Given the description of an element on the screen output the (x, y) to click on. 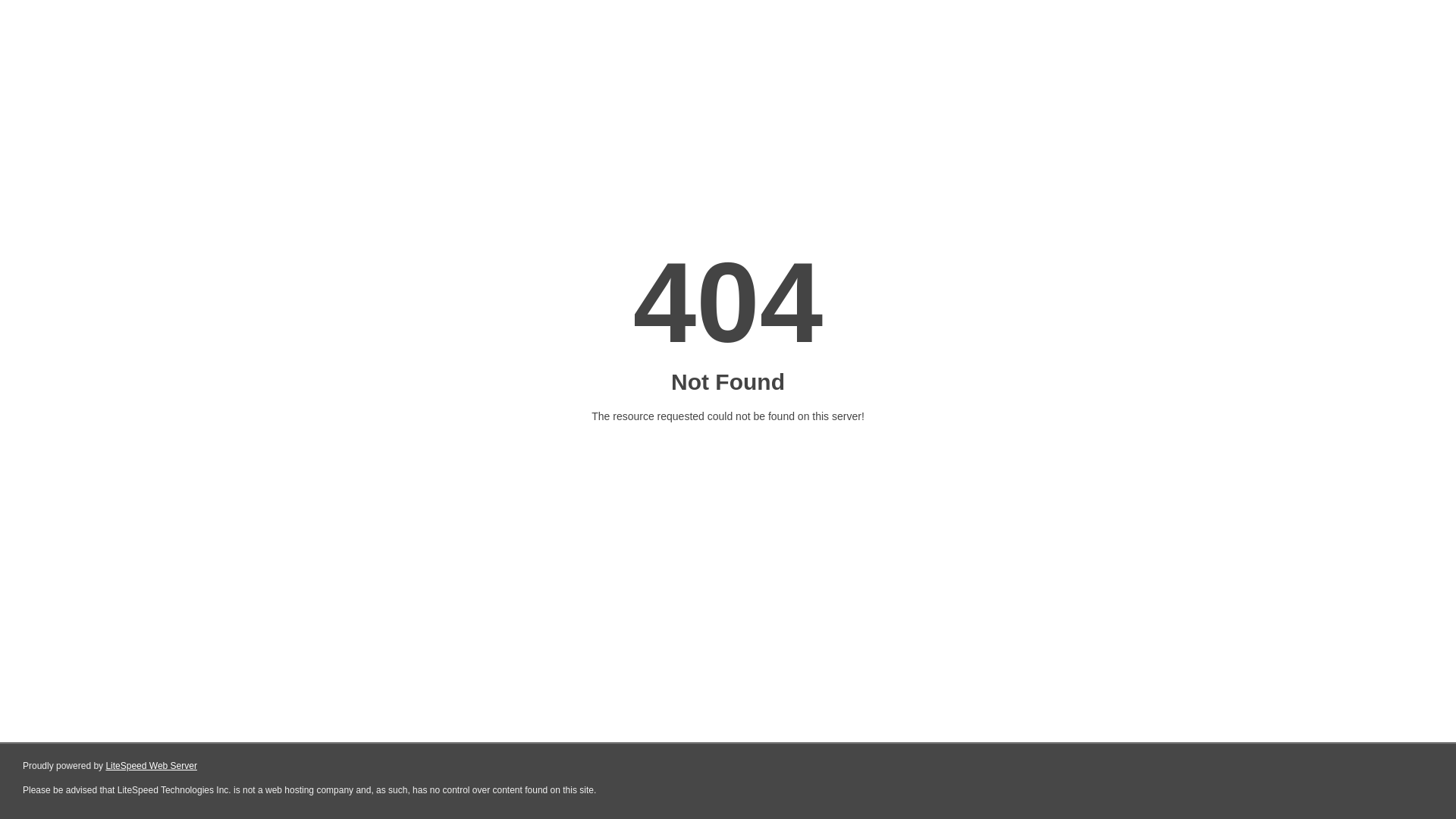
LiteSpeed Web Server Element type: text (151, 765)
